Given the description of an element on the screen output the (x, y) to click on. 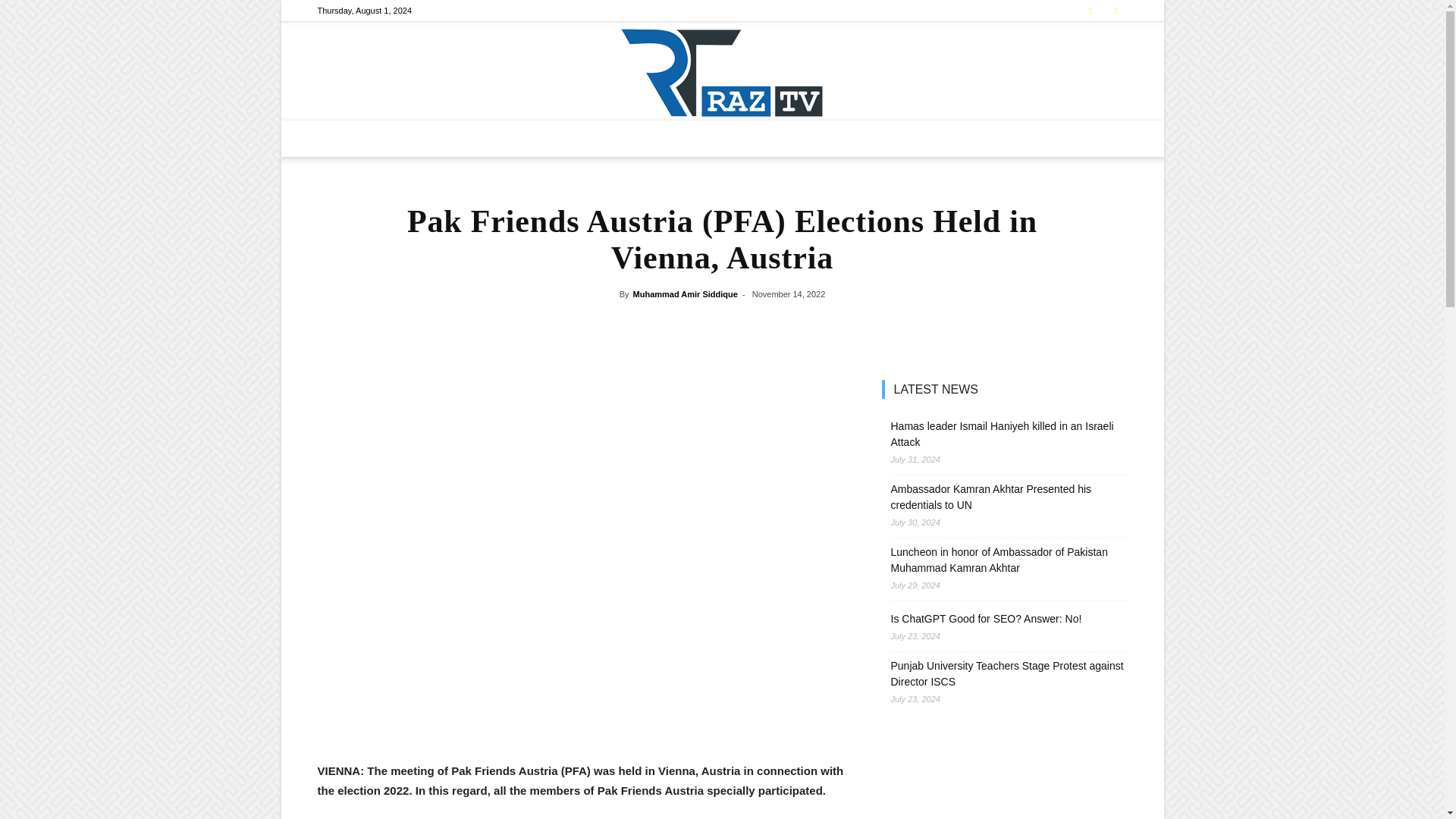
India (617, 138)
Advertisement (580, 722)
Facebook (1090, 10)
World (721, 138)
RAZ TV (722, 71)
Home (407, 138)
Poetry (874, 138)
Linkedin (1114, 10)
Pakistan (503, 138)
Bangladesh (563, 138)
Latest (452, 138)
Liberland (668, 138)
Blogs (829, 138)
